Given the description of an element on the screen output the (x, y) to click on. 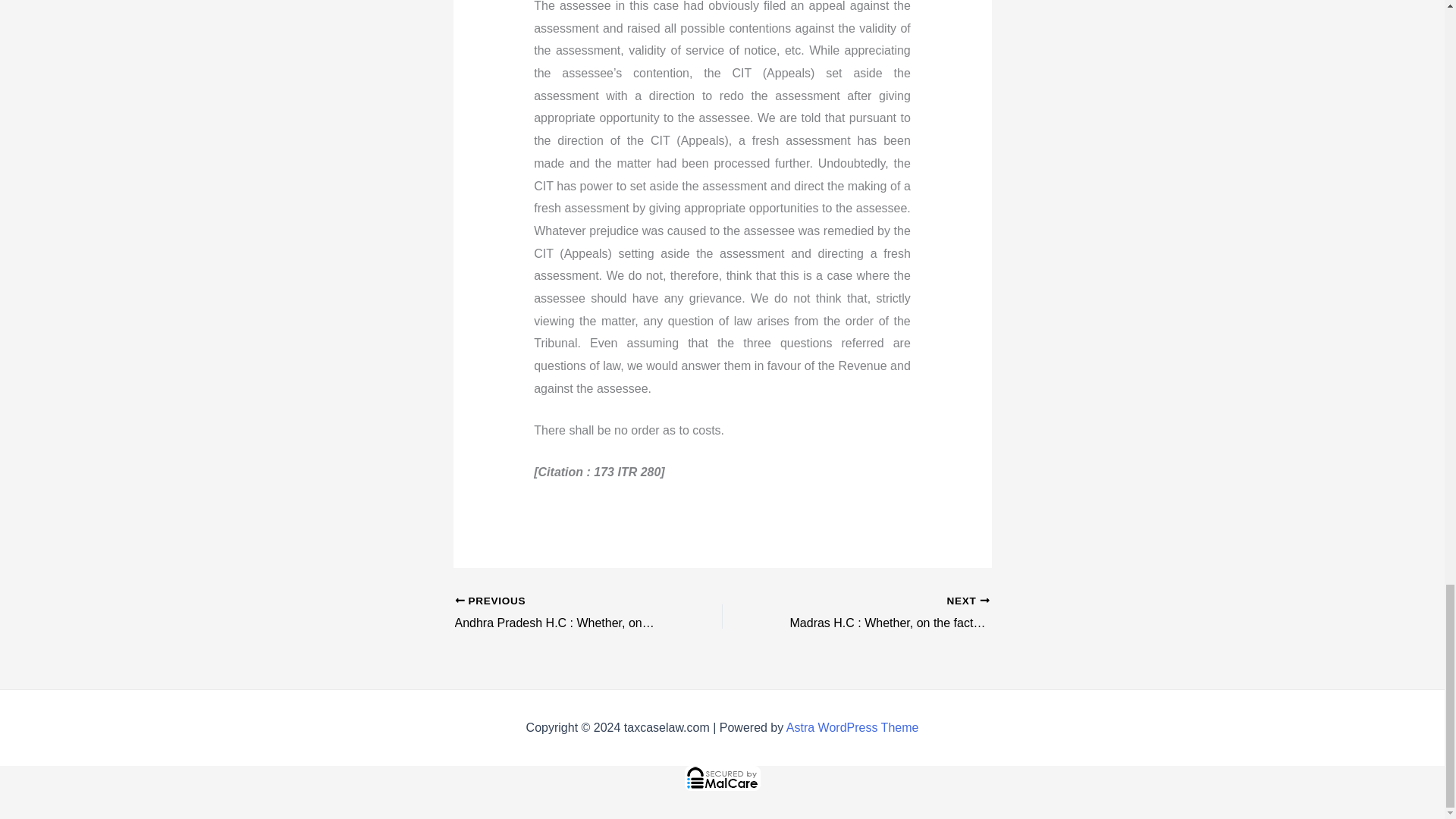
Astra WordPress Theme (852, 727)
